Given the description of an element on the screen output the (x, y) to click on. 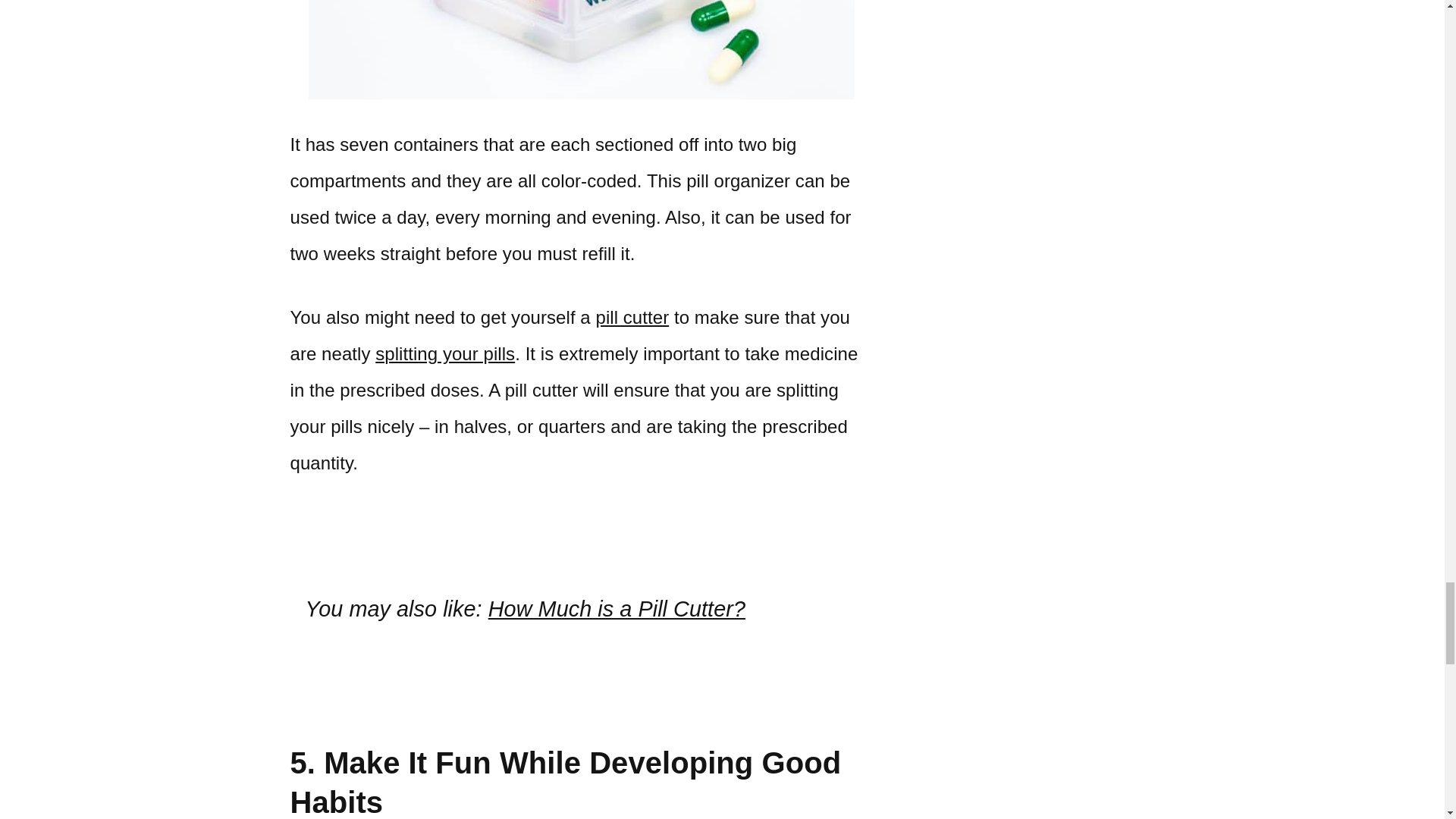
How Much is a Pill Cutter? (616, 608)
splitting your pills (445, 353)
pill cutter (632, 317)
